Given the description of an element on the screen output the (x, y) to click on. 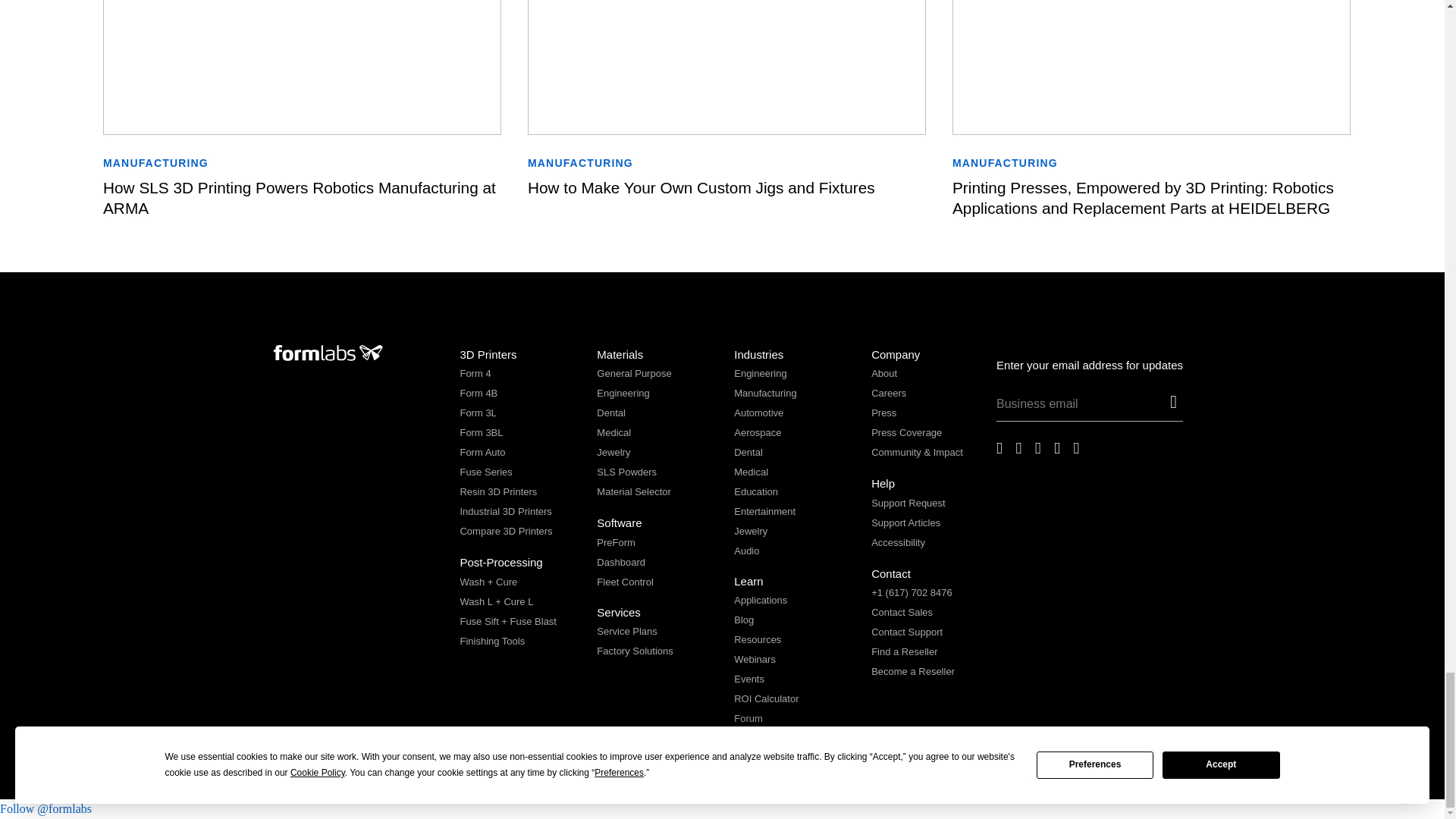
Email (1079, 407)
